Given the description of an element on the screen output the (x, y) to click on. 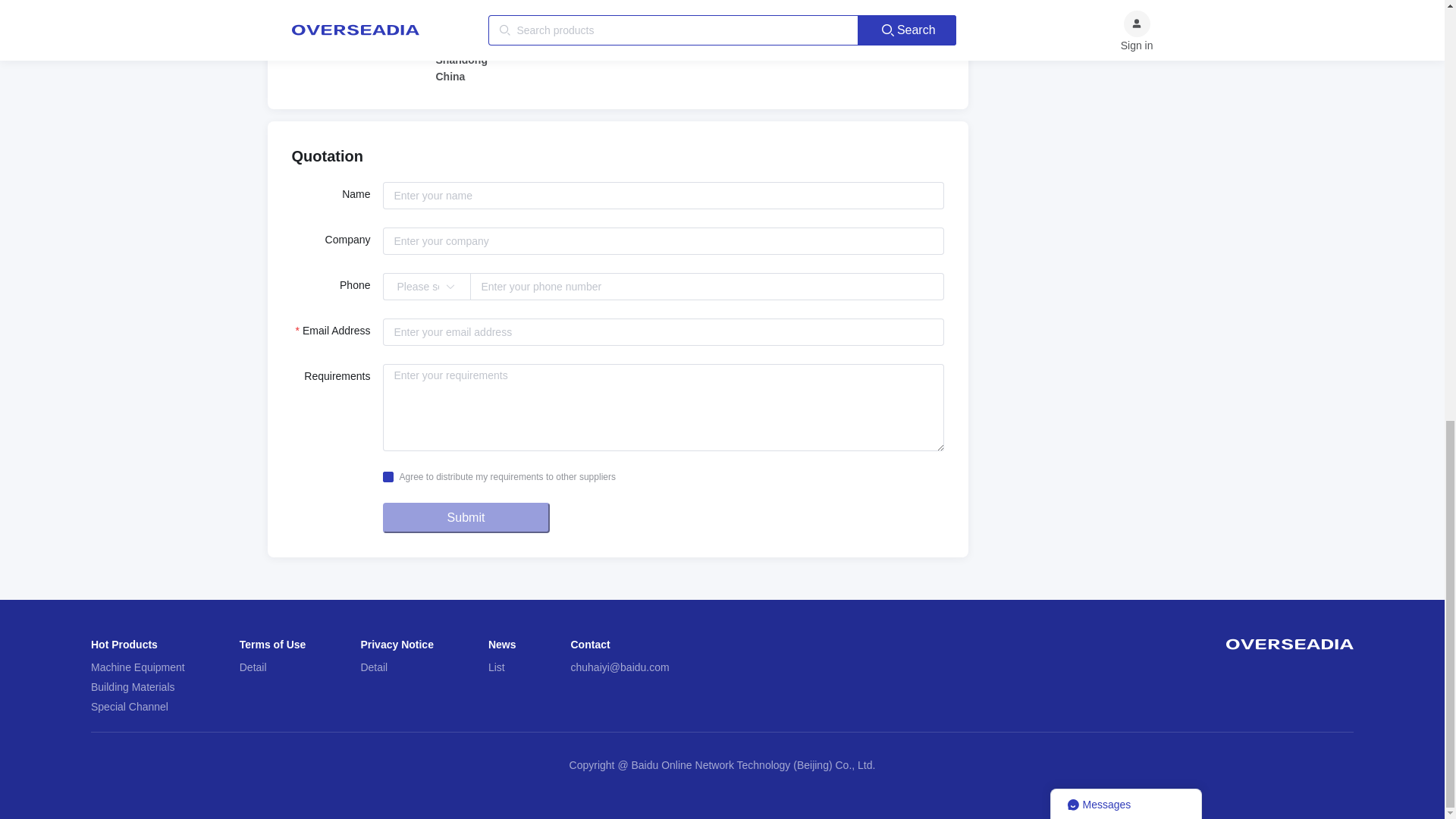
Building Materials (132, 686)
Detail (253, 666)
Special Channel (129, 706)
Machine Equipment (137, 666)
Submit (464, 517)
List (496, 666)
Detail (373, 666)
